Given the description of an element on the screen output the (x, y) to click on. 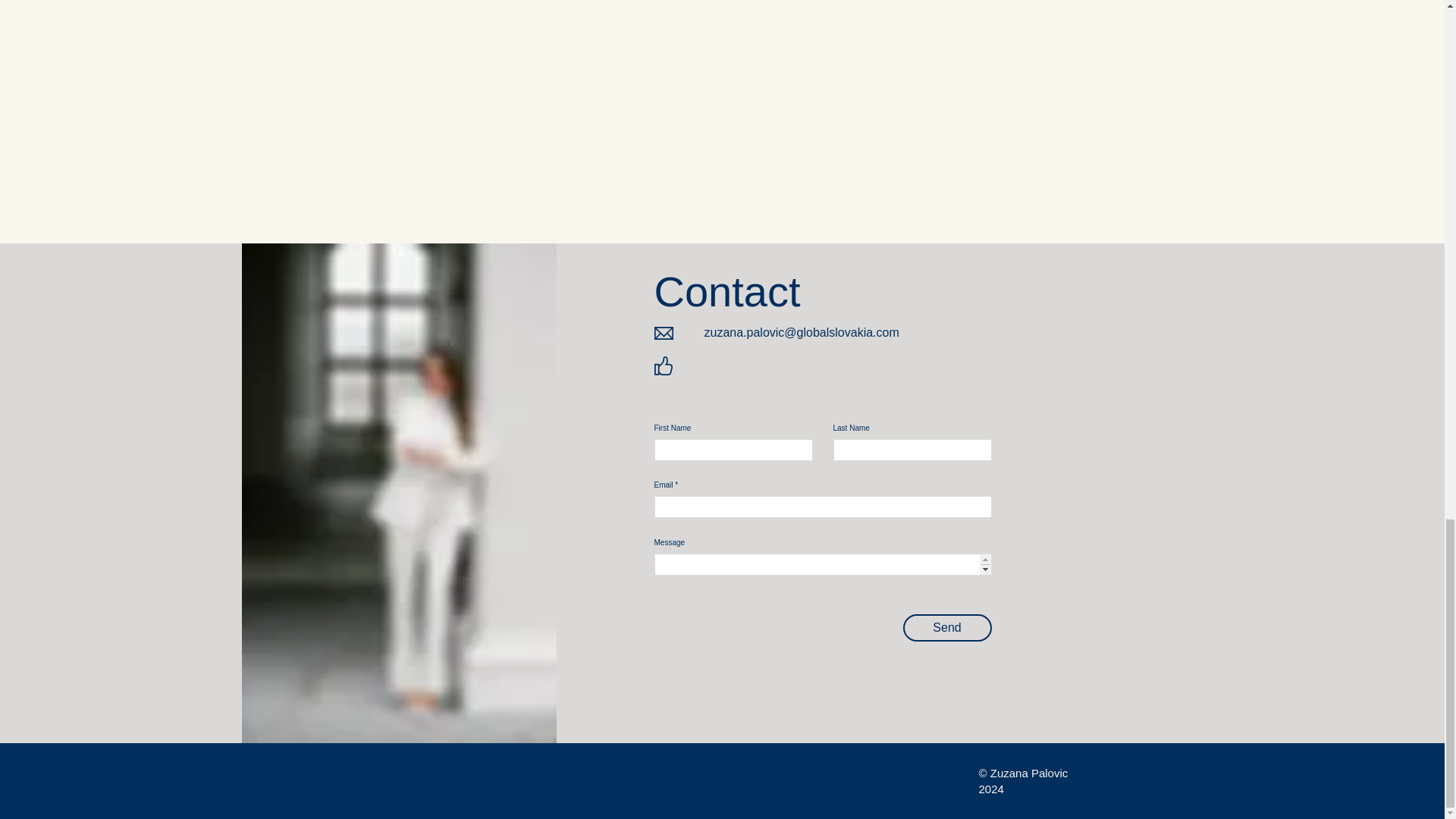
Send (946, 627)
